Given the description of an element on the screen output the (x, y) to click on. 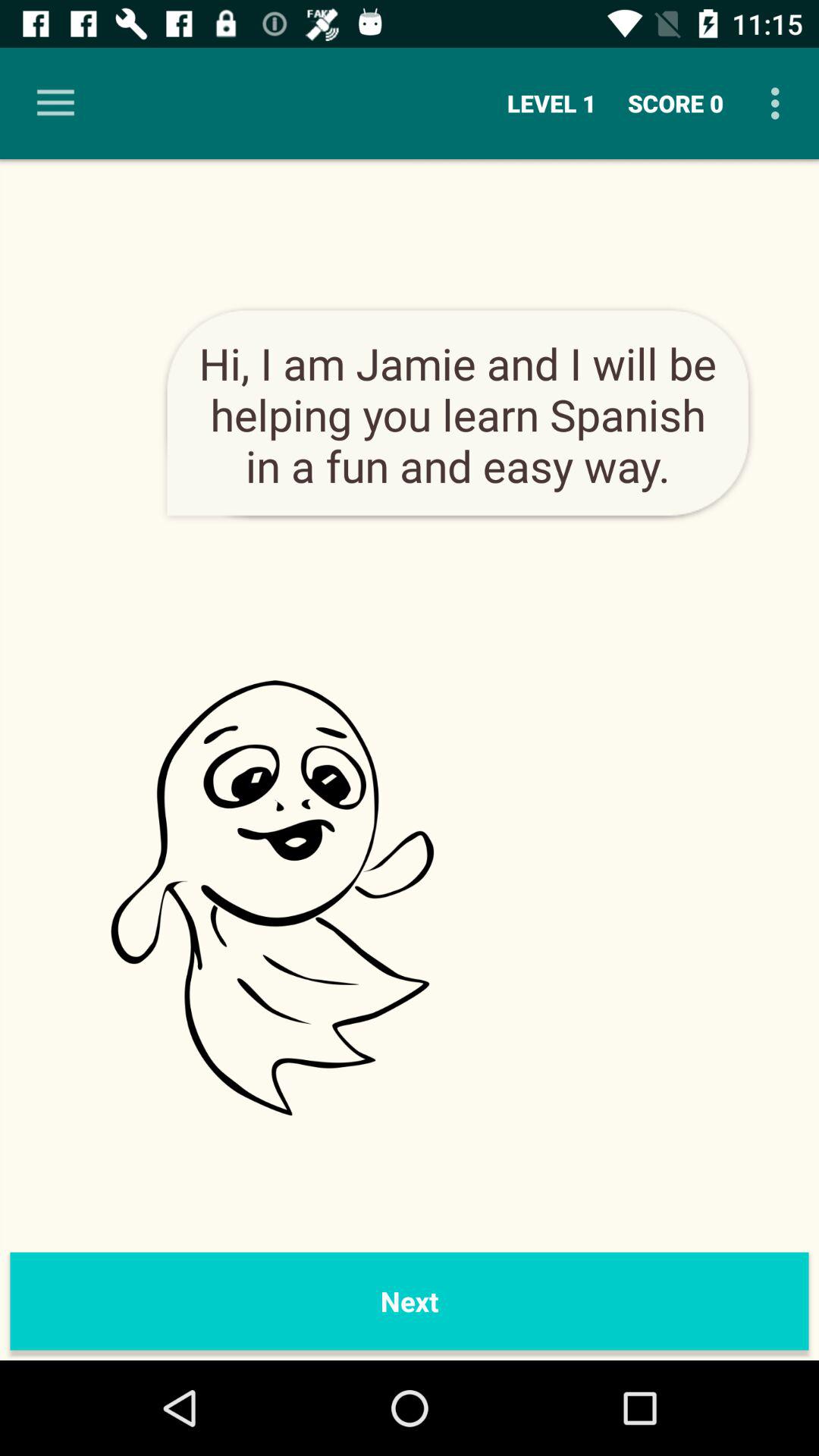
jump to the level 1 (551, 103)
